Given the description of an element on the screen output the (x, y) to click on. 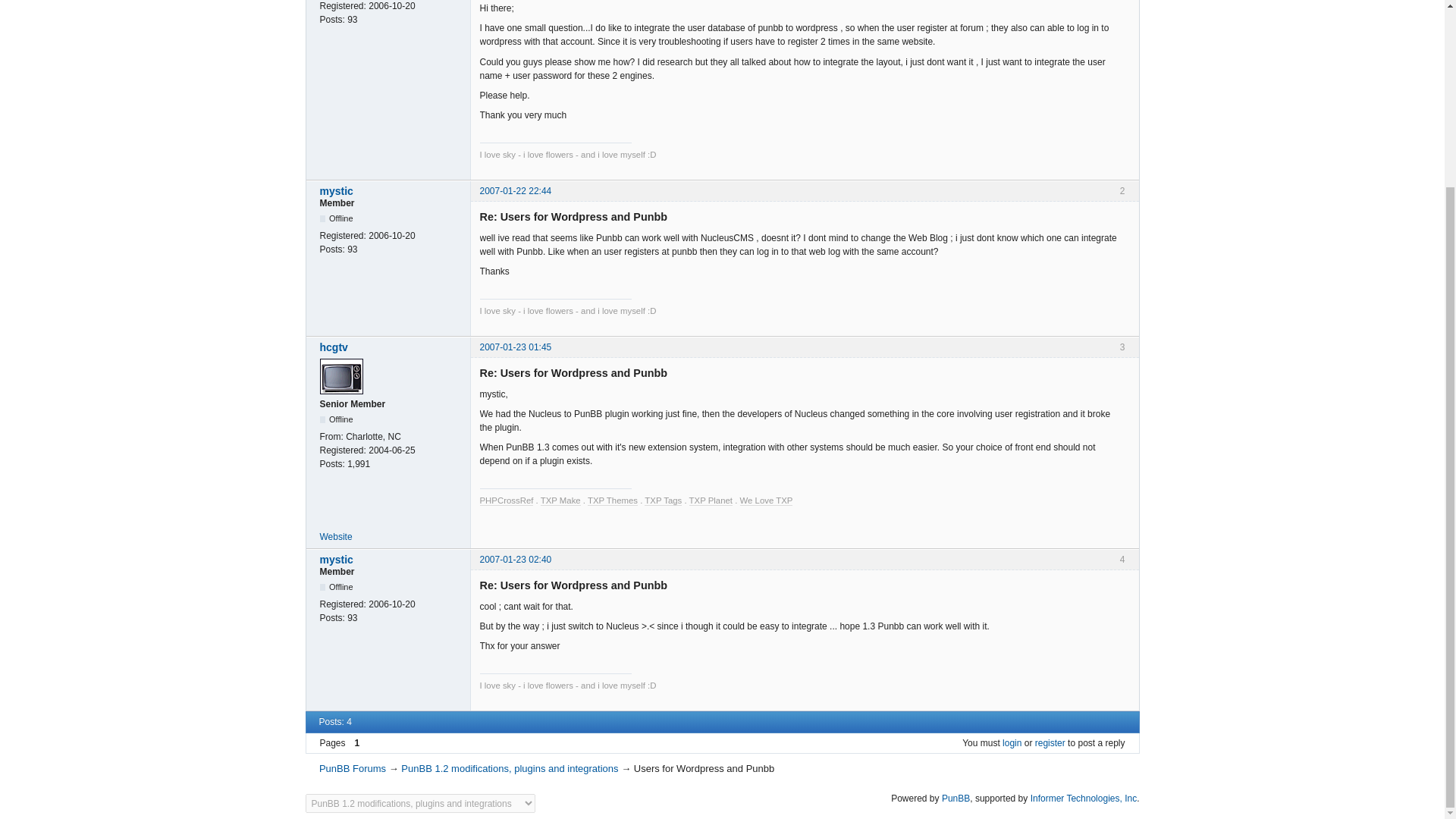
Permanent link to this post (515, 190)
We Love TXP (766, 501)
TXP Themes (612, 501)
mystic (390, 559)
Go to mystic's profile (390, 559)
PHPCrossRef (505, 501)
mystic (390, 191)
hcgtv (390, 346)
Website (336, 536)
TXP Make (560, 501)
